Given the description of an element on the screen output the (x, y) to click on. 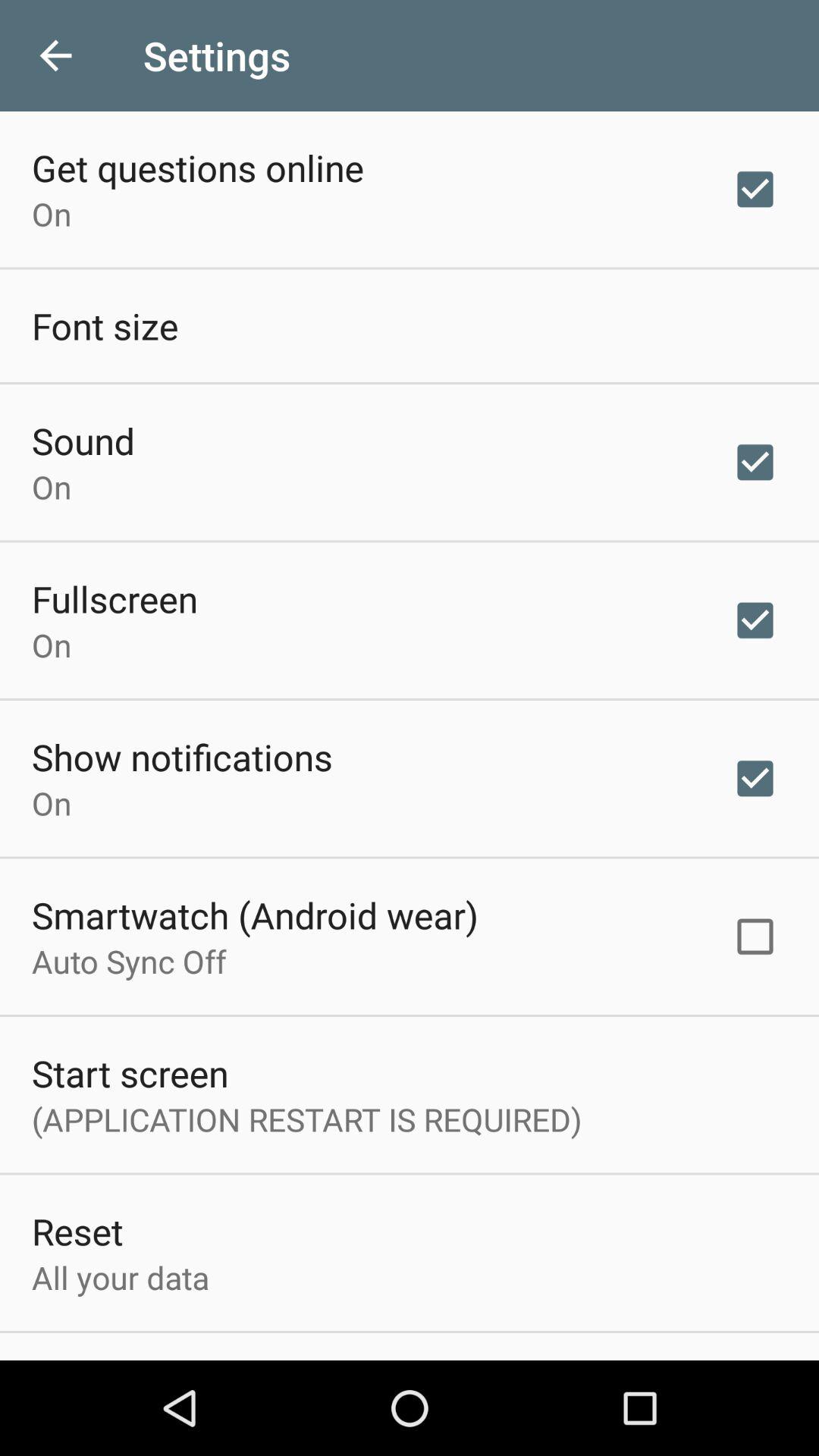
click icon above on icon (114, 598)
